Given the description of an element on the screen output the (x, y) to click on. 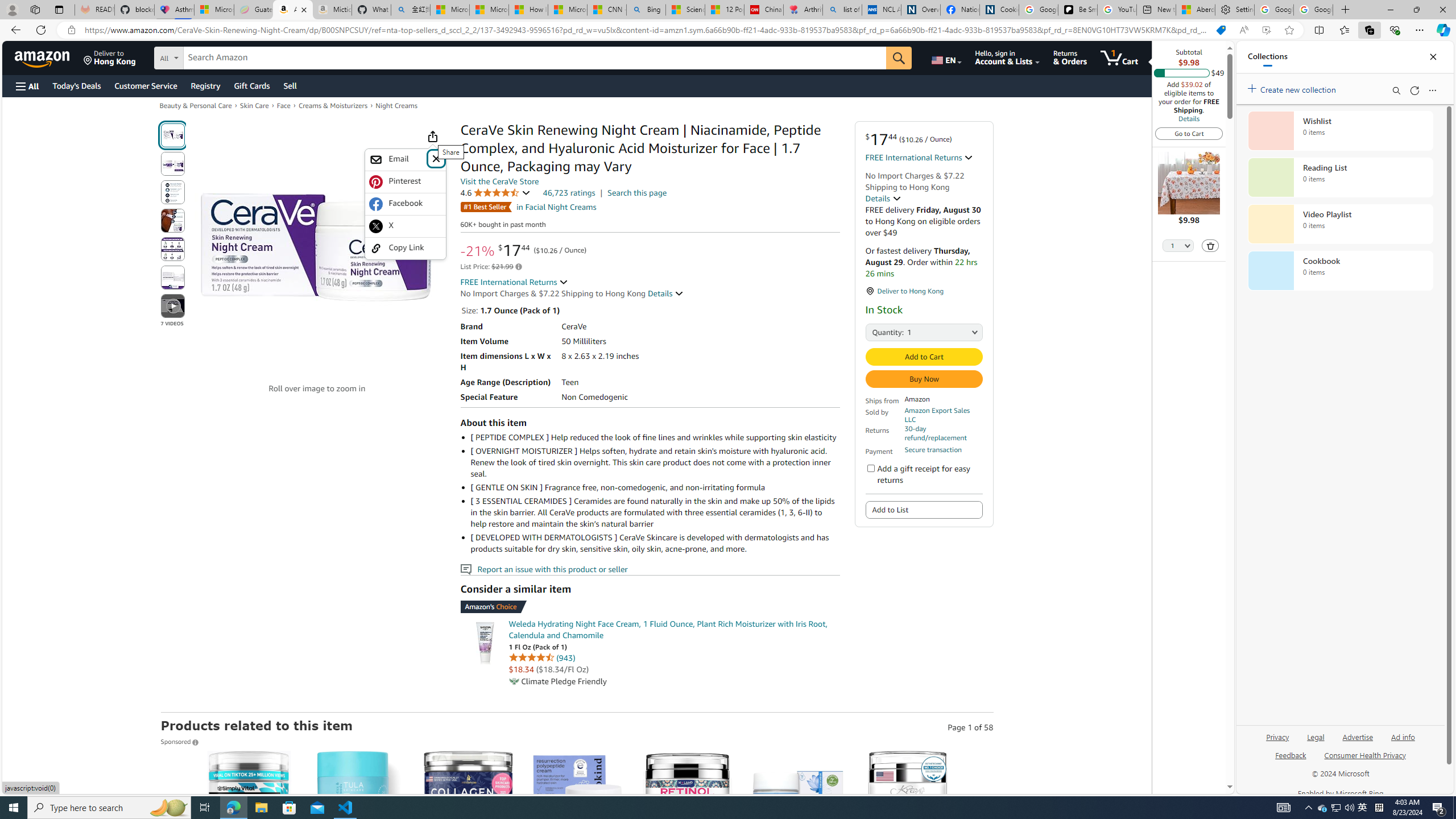
Email (397, 159)
Email (404, 159)
CNN - MSN (606, 9)
Facebook (404, 203)
